Given the description of an element on the screen output the (x, y) to click on. 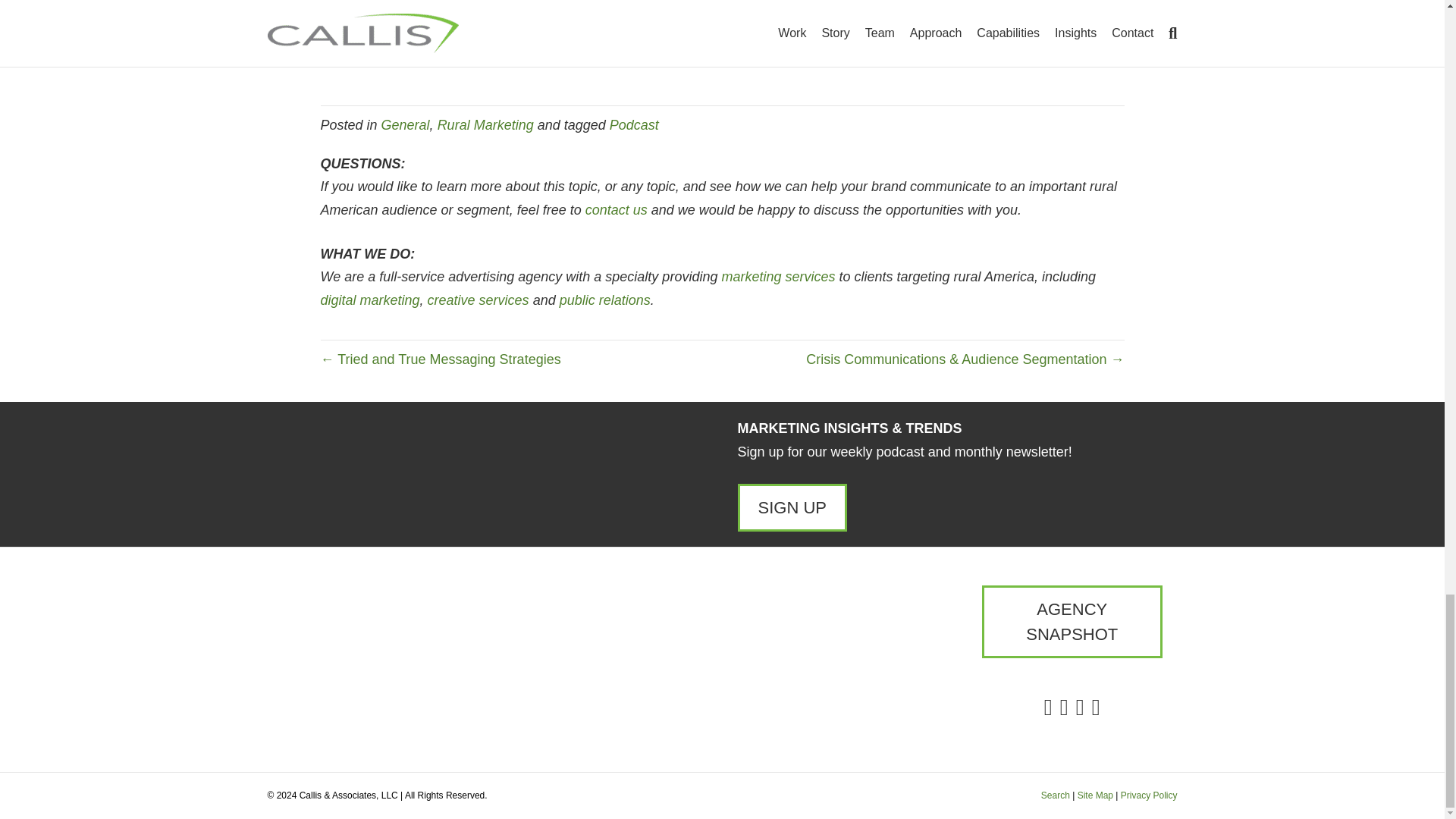
Check it out (422, 58)
Rural Marketing (486, 124)
General (405, 124)
Podcast (634, 124)
